Given the description of an element on the screen output the (x, y) to click on. 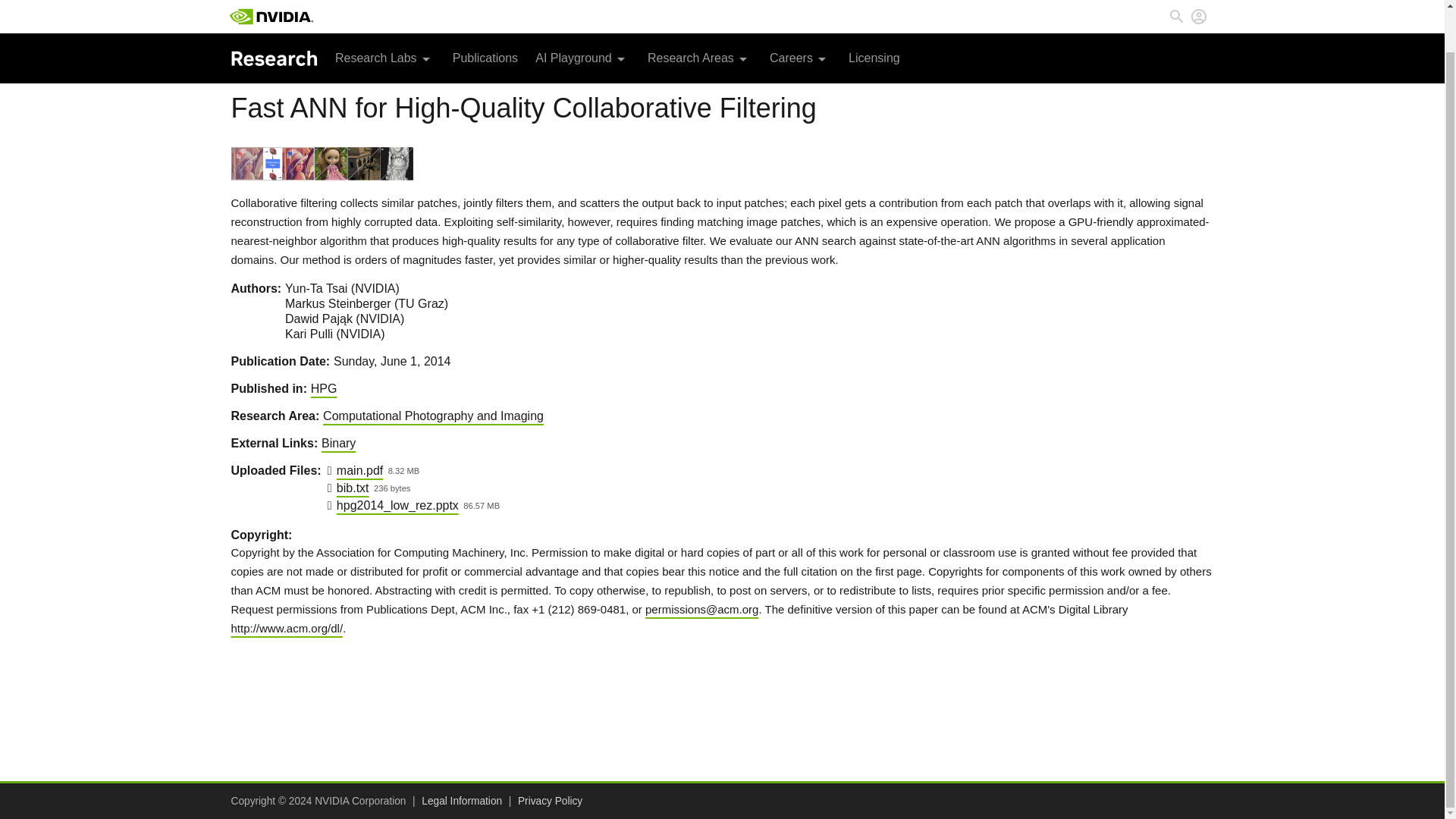
Open file in new window (397, 504)
Research (273, 14)
Open document in new window (352, 487)
Open file in new window (359, 470)
Publications (485, 19)
